Given the description of an element on the screen output the (x, y) to click on. 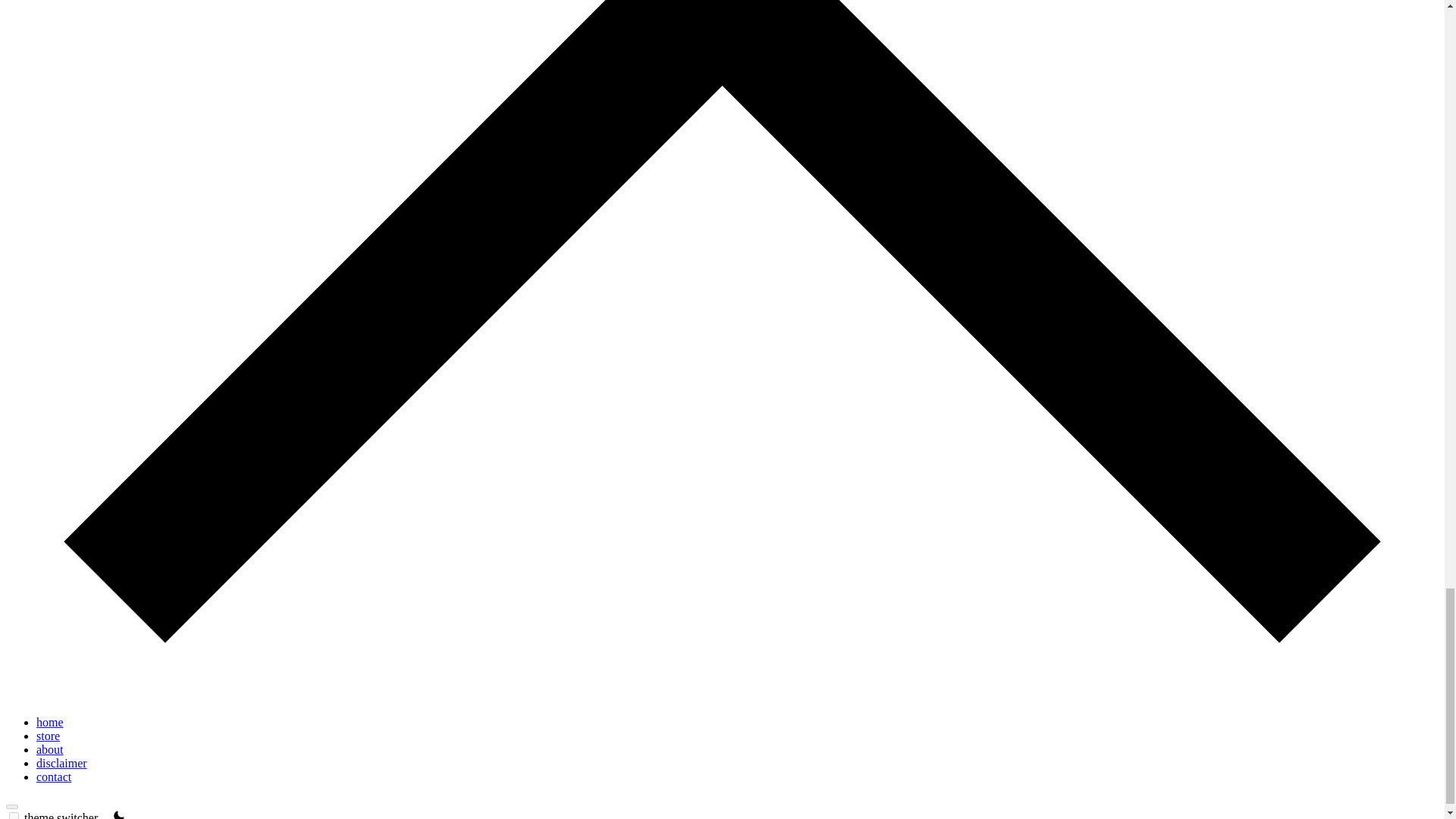
about (50, 748)
contact (53, 776)
store (47, 735)
disclaimer (61, 762)
home (50, 721)
